Given the description of an element on the screen output the (x, y) to click on. 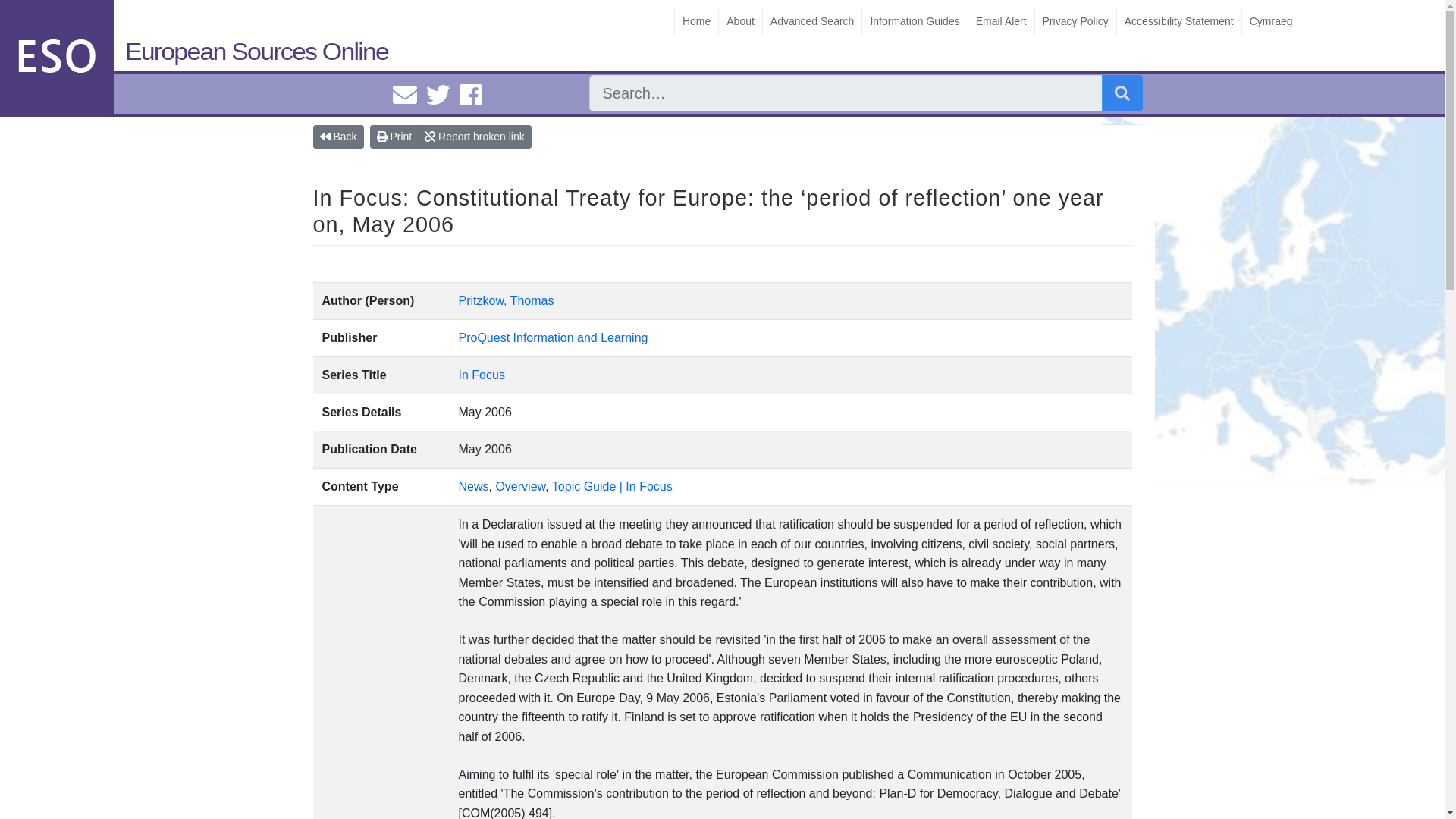
ProQuest Information and Learning (552, 337)
News (473, 486)
Privacy Policy (1074, 21)
Information Guides (913, 21)
About (739, 21)
In Focus (481, 374)
Pritzkow, Thomas (506, 300)
Advanced Search (811, 21)
Email Alert (1000, 21)
European Sources Online (197, 44)
